Given the description of an element on the screen output the (x, y) to click on. 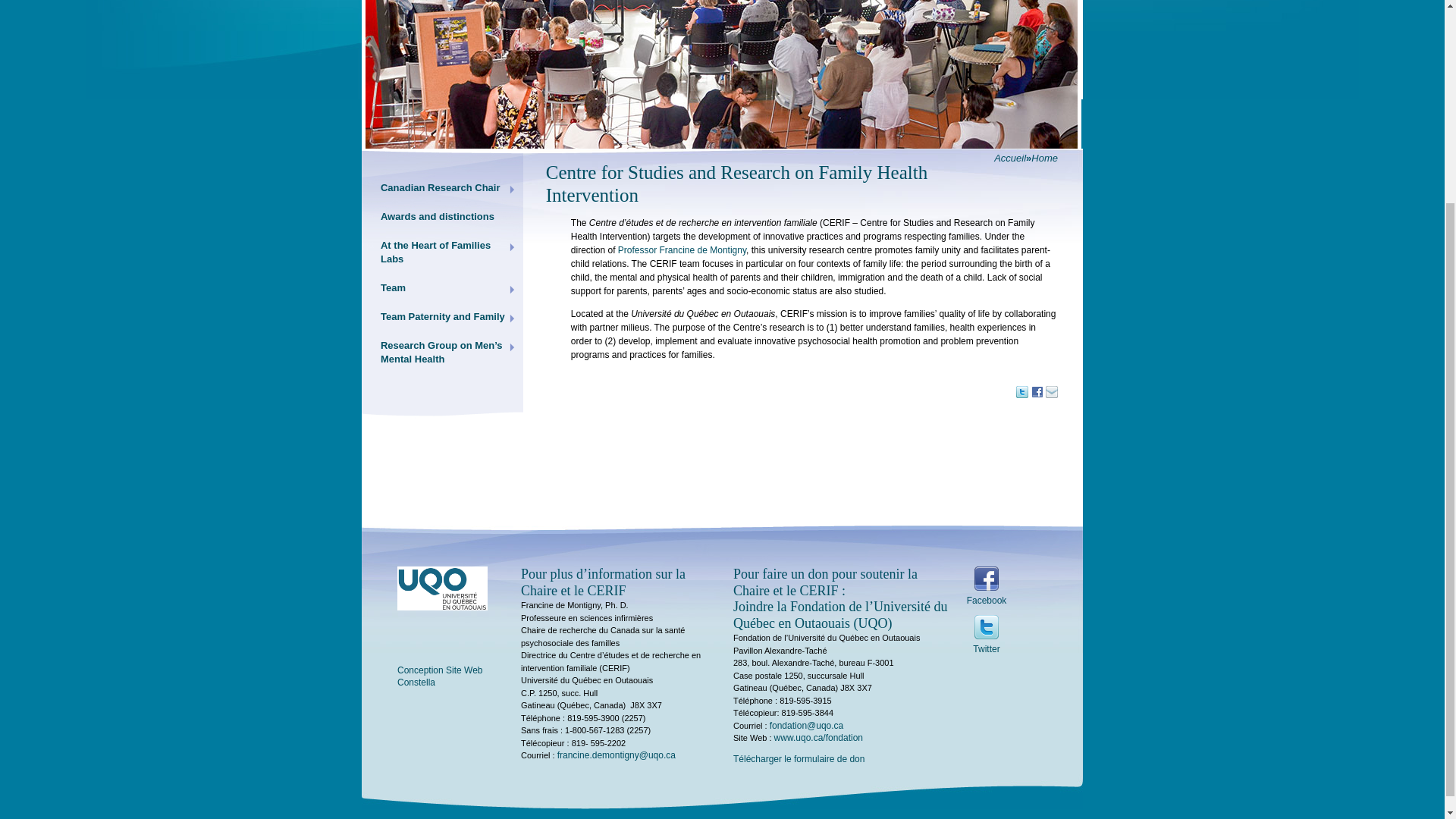
Partager cette page par courriel (1051, 392)
Partager cette page dans Facebook (1036, 392)
Partager cette page sur Twitter (1021, 392)
